Given the description of an element on the screen output the (x, y) to click on. 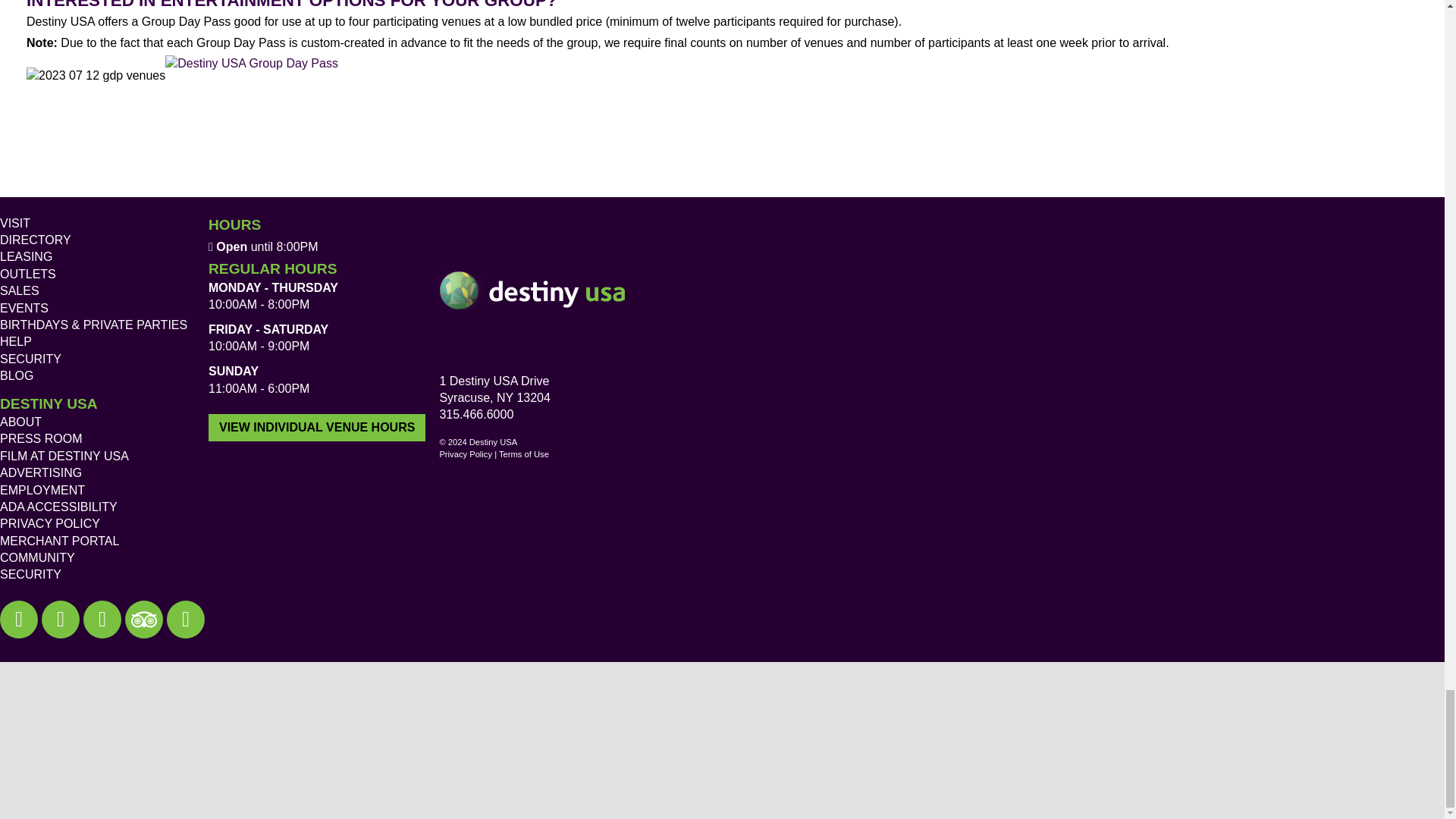
Instagram (101, 619)
TripAdvisor (144, 619)
Destiny USA (533, 290)
2023 07 12 gdp venues (95, 102)
TikTok (186, 619)
Facebook (18, 619)
Twitter (61, 619)
